Given the description of an element on the screen output the (x, y) to click on. 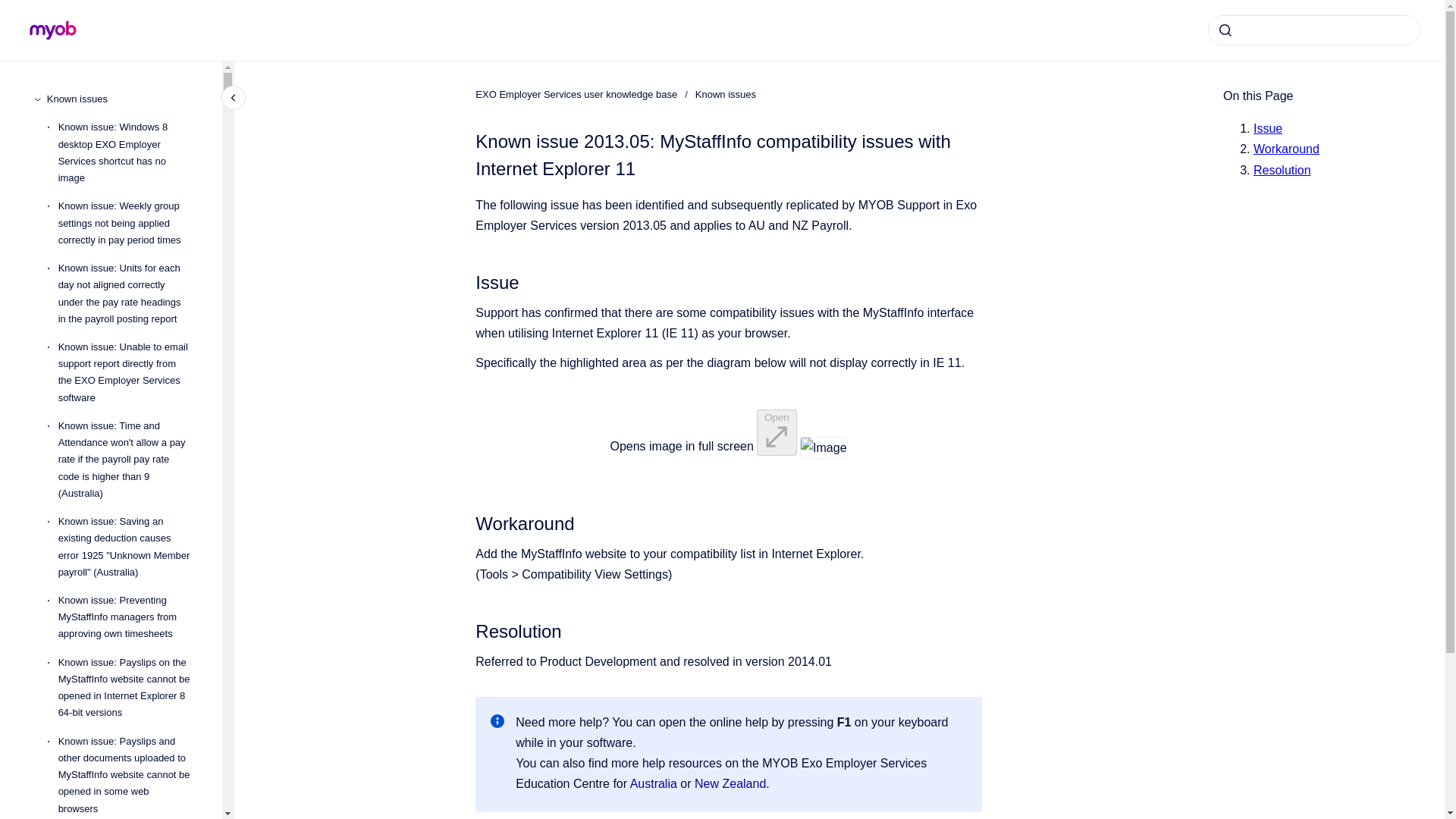
Go to homepage (52, 30)
Known issues (122, 99)
